Given the description of an element on the screen output the (x, y) to click on. 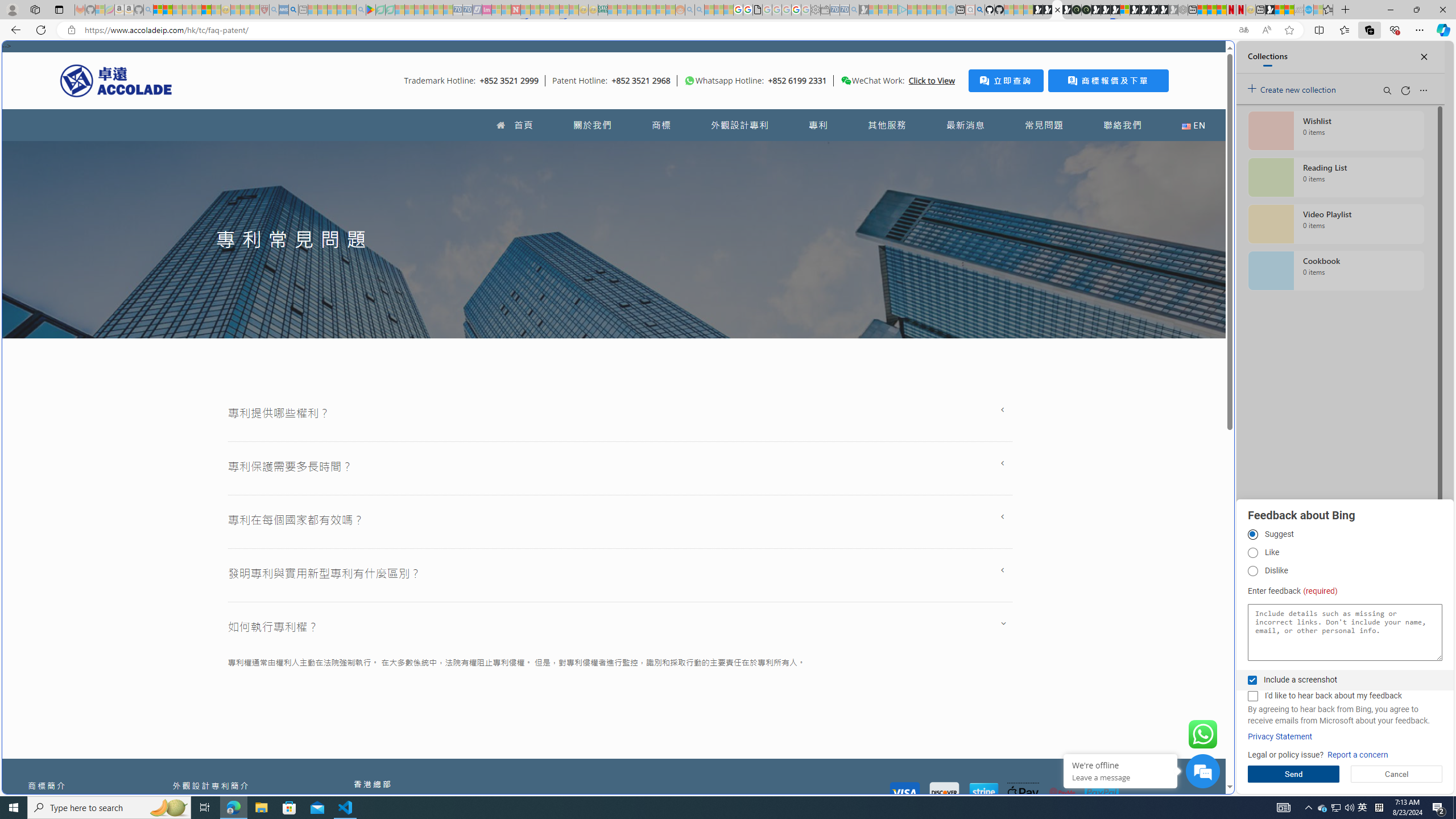
github - Search (979, 9)
Class: desktop (845, 80)
Earth has six continents not seven, radical new study claims (1288, 9)
Sign in to your account (1124, 9)
